Given the description of an element on the screen output the (x, y) to click on. 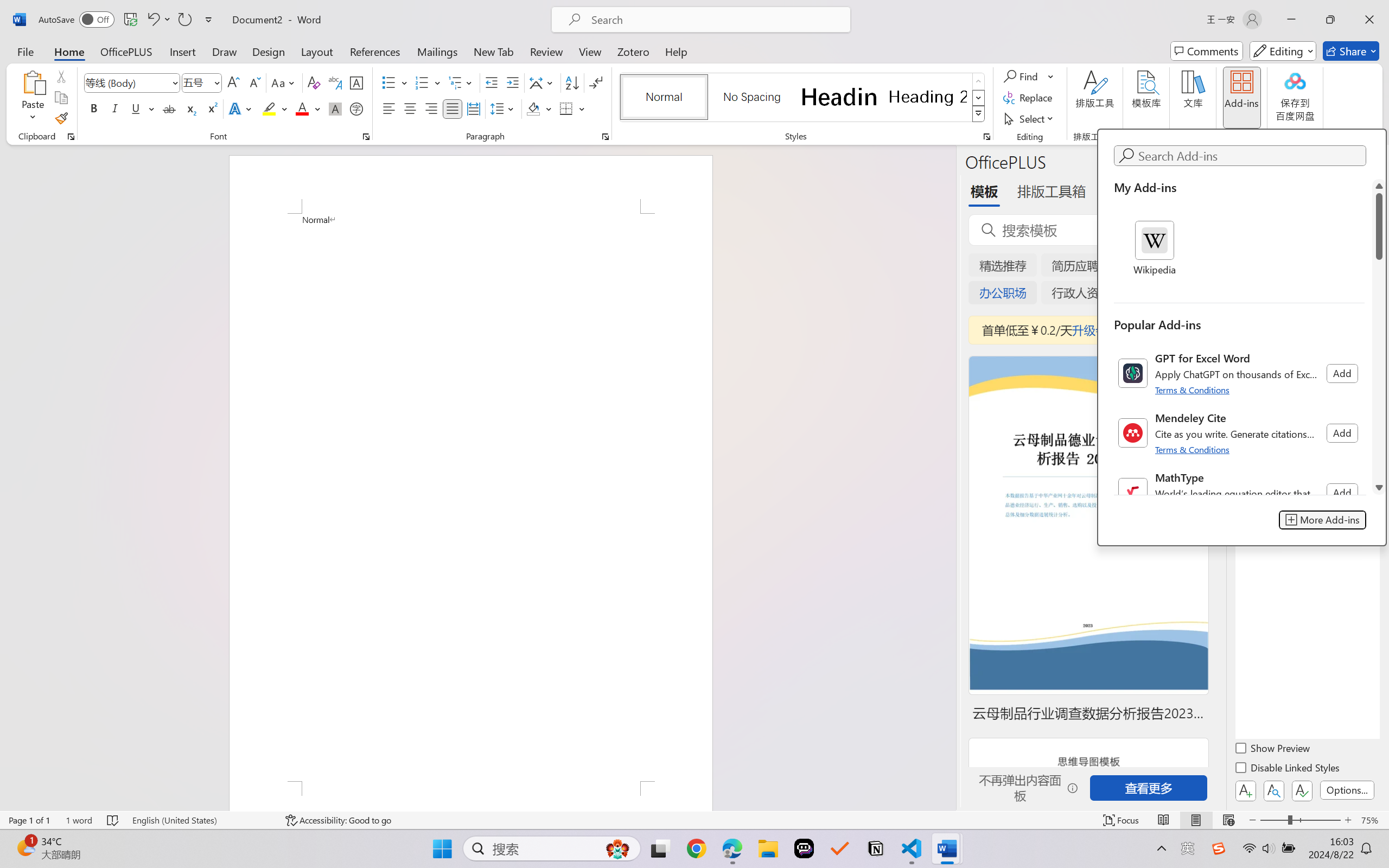
Enclose Characters... (356, 108)
Sort... (571, 82)
Class: Image (1218, 847)
Zoom (1300, 819)
Paragraph... (605, 136)
Zotero (632, 51)
Repeat Doc Close (184, 19)
Bullets (395, 82)
Distributed (473, 108)
Comments (1206, 50)
Row Down (978, 97)
Subscript (190, 108)
Customize Quick Access Toolbar (208, 19)
